Given the description of an element on the screen output the (x, y) to click on. 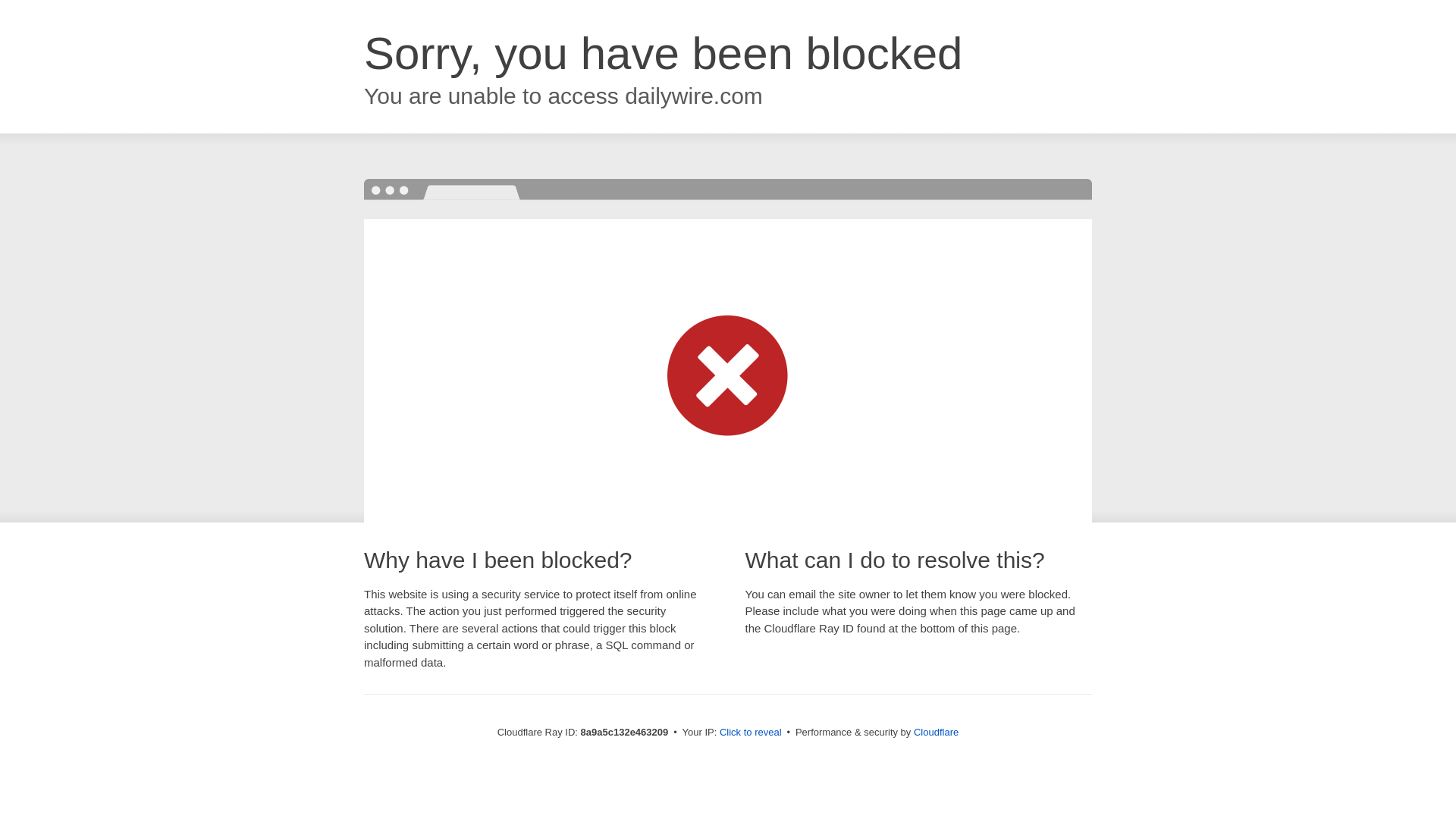
Cloudflare (936, 731)
Click to reveal (750, 732)
